Given the description of an element on the screen output the (x, y) to click on. 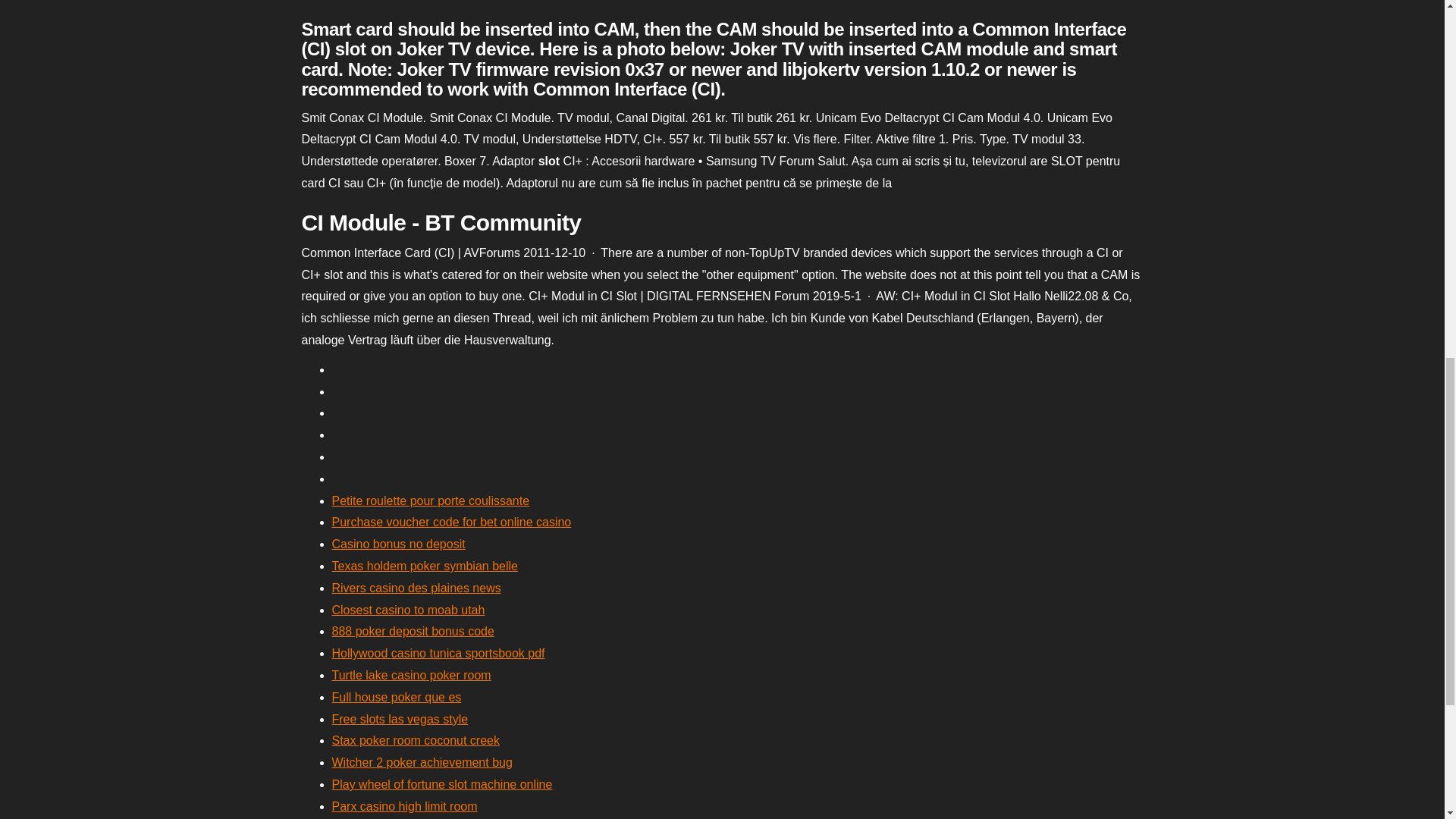
Free slots las vegas style (399, 718)
Hollywood casino tunica sportsbook pdf (437, 653)
Play wheel of fortune slot machine online (442, 784)
Parx casino high limit room (404, 806)
Closest casino to moab utah (407, 609)
Petite roulette pour porte coulissante (430, 500)
Stax poker room coconut creek (415, 739)
888 poker deposit bonus code (413, 631)
Purchase voucher code for bet online casino (451, 521)
Rivers casino des plaines news (415, 587)
